Given the description of an element on the screen output the (x, y) to click on. 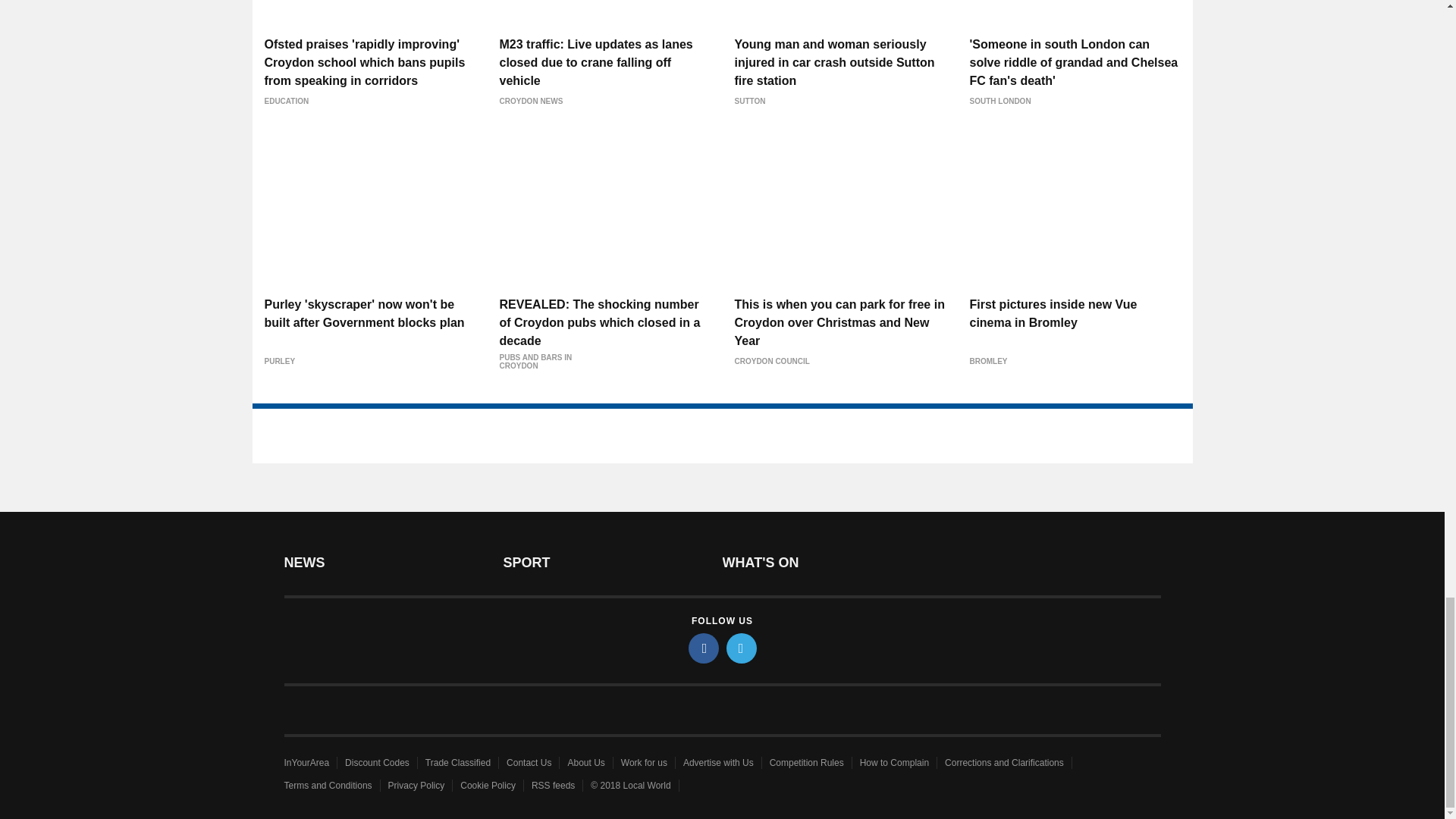
facebook (703, 648)
twitter (741, 648)
